Given the description of an element on the screen output the (x, y) to click on. 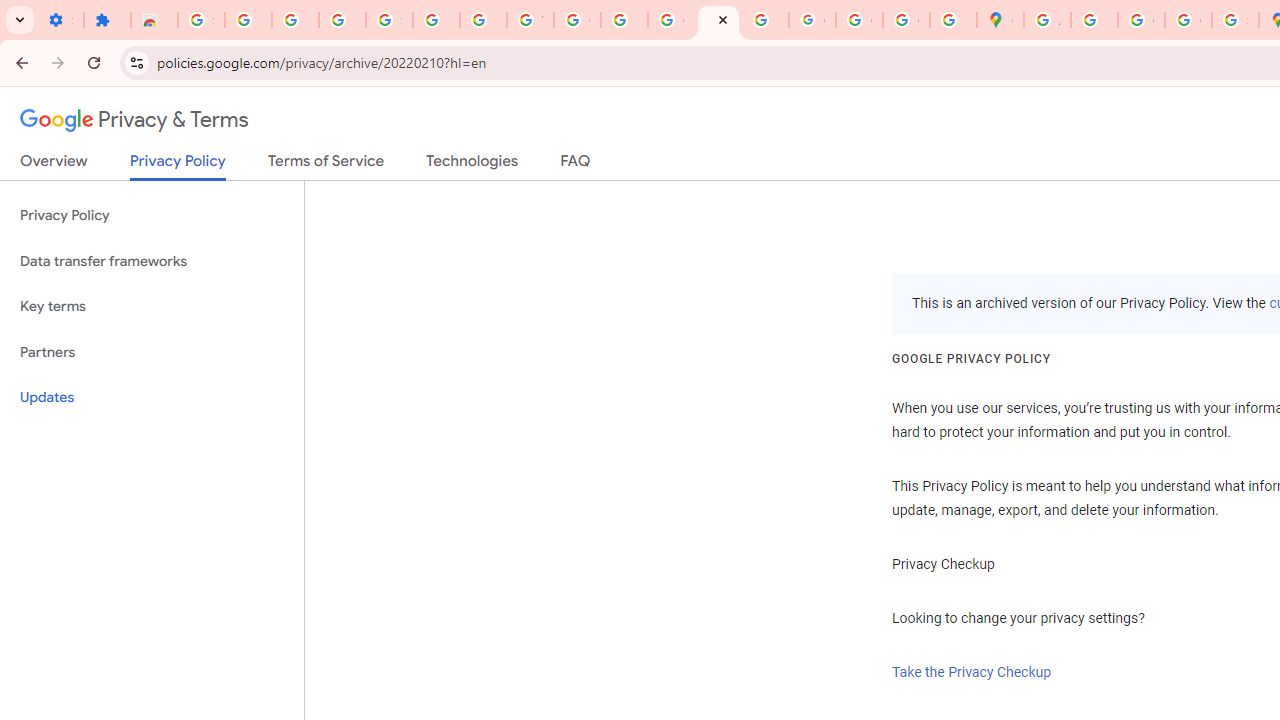
Extensions (107, 20)
Sign in - Google Accounts (389, 20)
Sign in - Google Accounts (201, 20)
FAQ (575, 165)
Reviews: Helix Fruit Jump Arcade Game (153, 20)
Learn how to find your photos - Google Photos Help (294, 20)
Partners (152, 352)
Technologies (472, 165)
Create your Google Account (1140, 20)
